Given the description of an element on the screen output the (x, y) to click on. 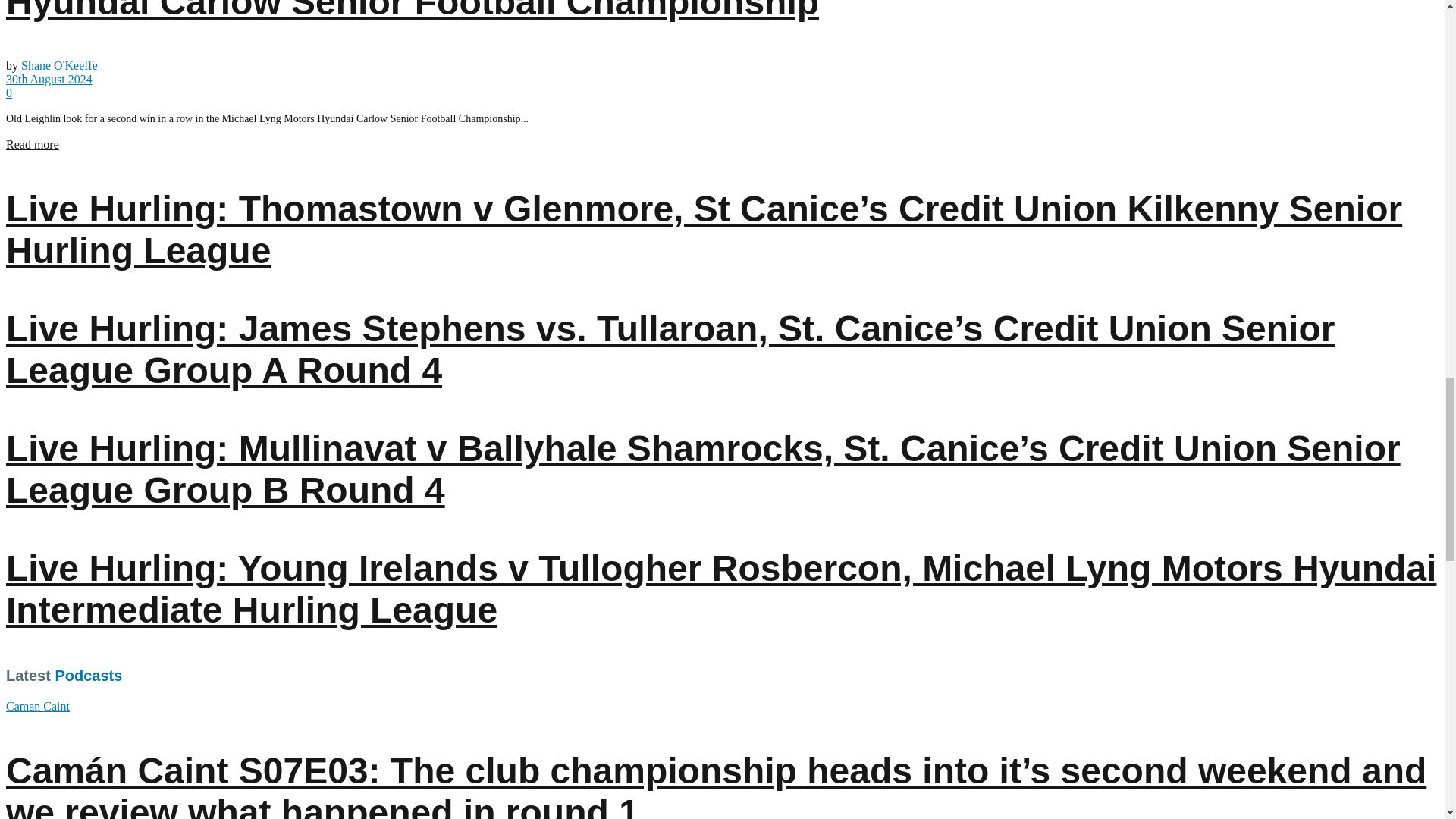
Shane O'Keeffe (59, 65)
Caman Caint (37, 706)
Read more (32, 144)
30th August 2024 (49, 78)
